Given the description of an element on the screen output the (x, y) to click on. 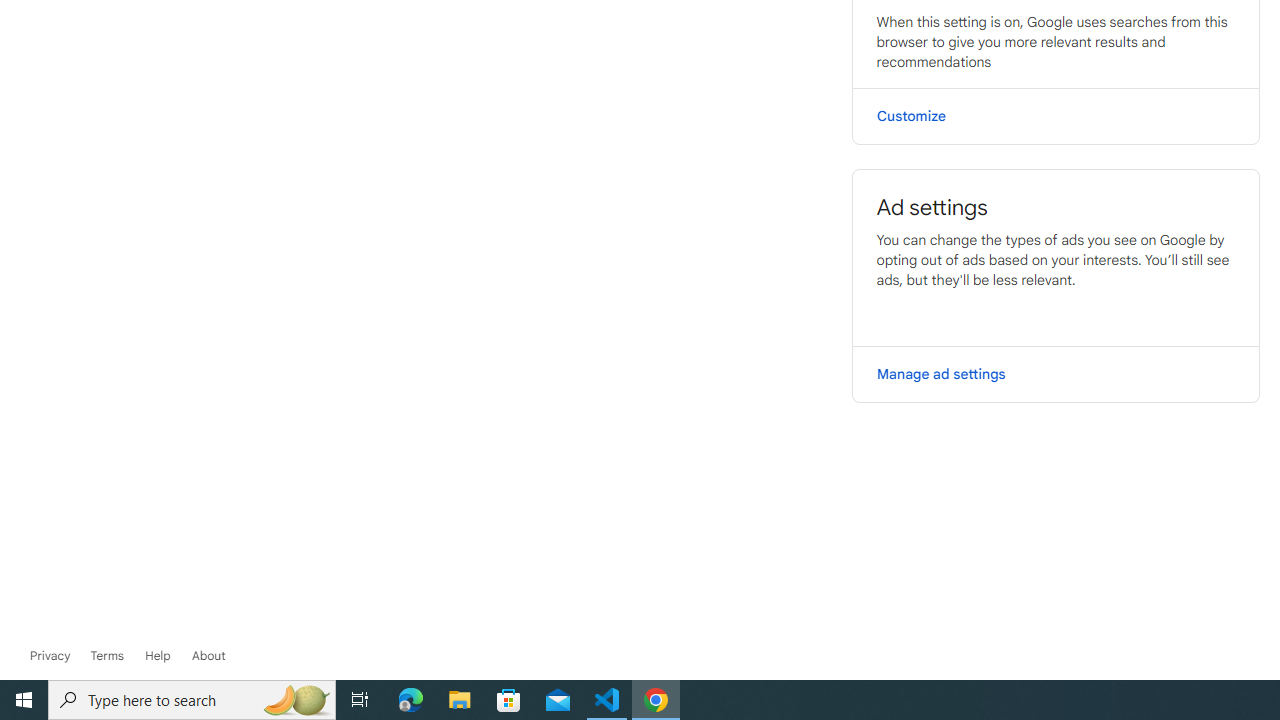
Manage ad settings (1055, 374)
Learn more about Google Account (208, 655)
Customize (1055, 116)
